Given the description of an element on the screen output the (x, y) to click on. 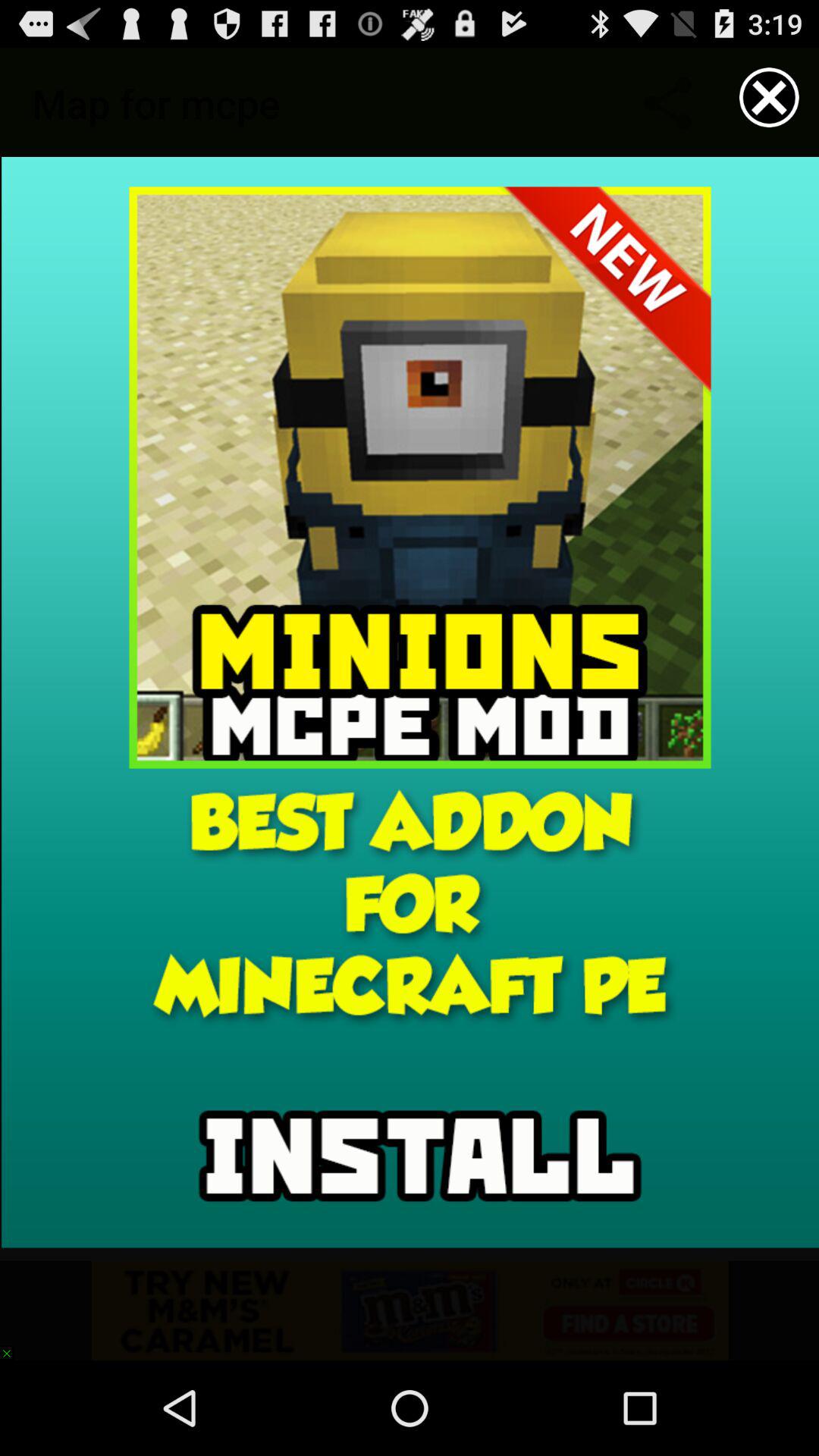
press the icon at the top right corner (769, 97)
